Given the description of an element on the screen output the (x, y) to click on. 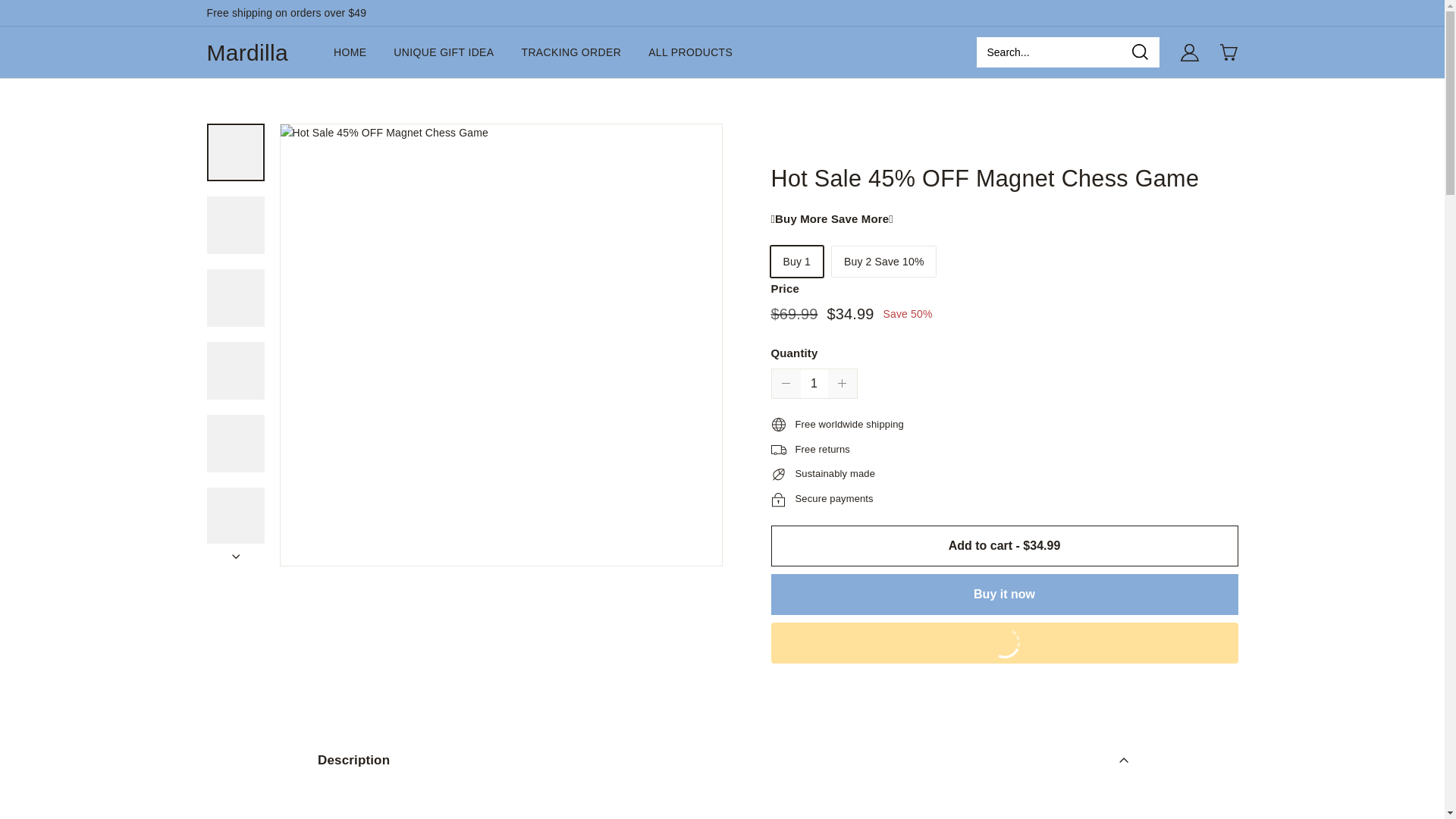
1 (814, 383)
HOME (349, 51)
UNIQUE GIFT IDEA (443, 51)
Buy it now (1003, 594)
ALL PRODUCTS (689, 51)
Mardilla (246, 52)
TRACKING ORDER (571, 51)
